Given the description of an element on the screen output the (x, y) to click on. 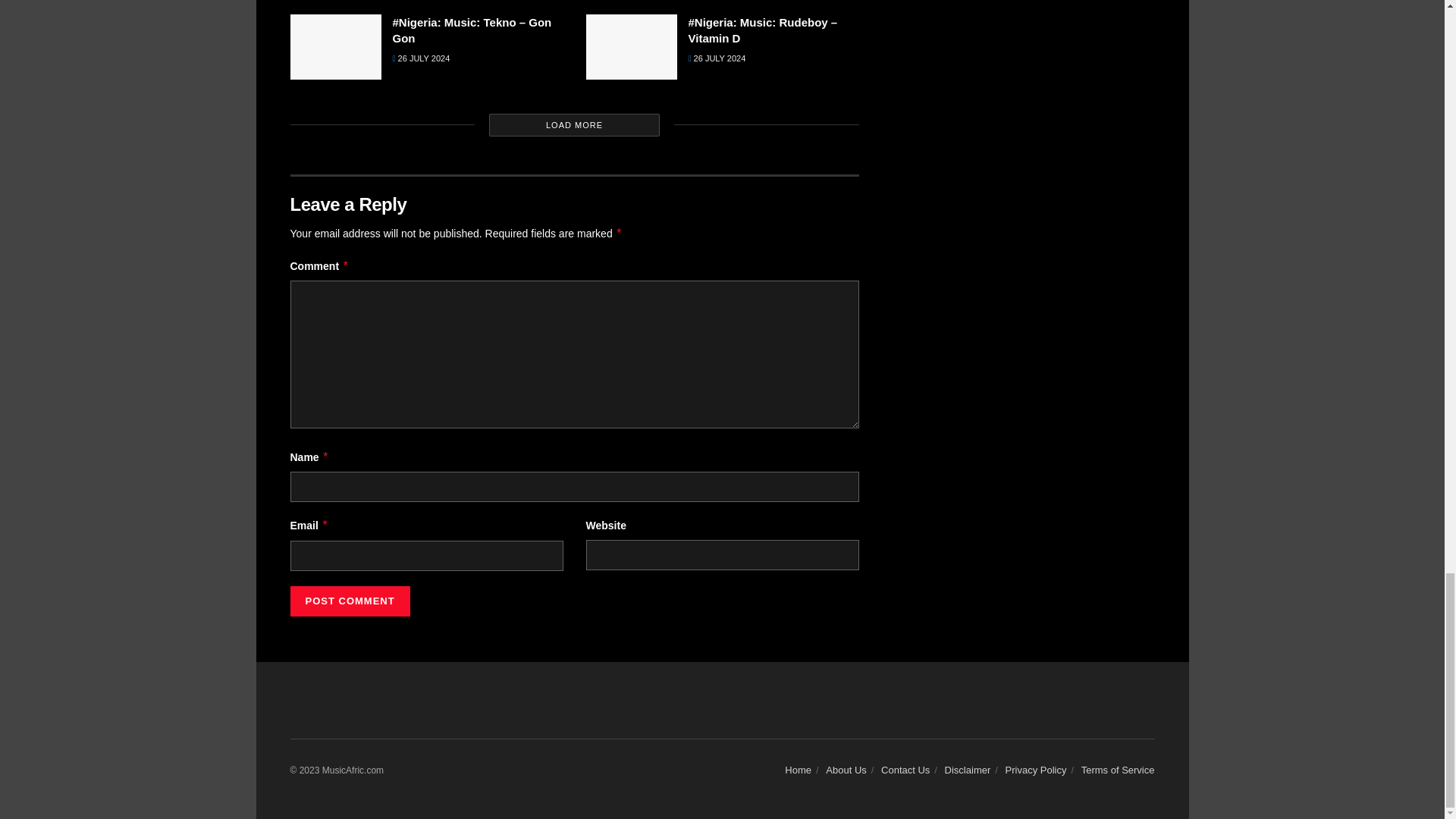
Post Comment (349, 601)
